Given the description of an element on the screen output the (x, y) to click on. 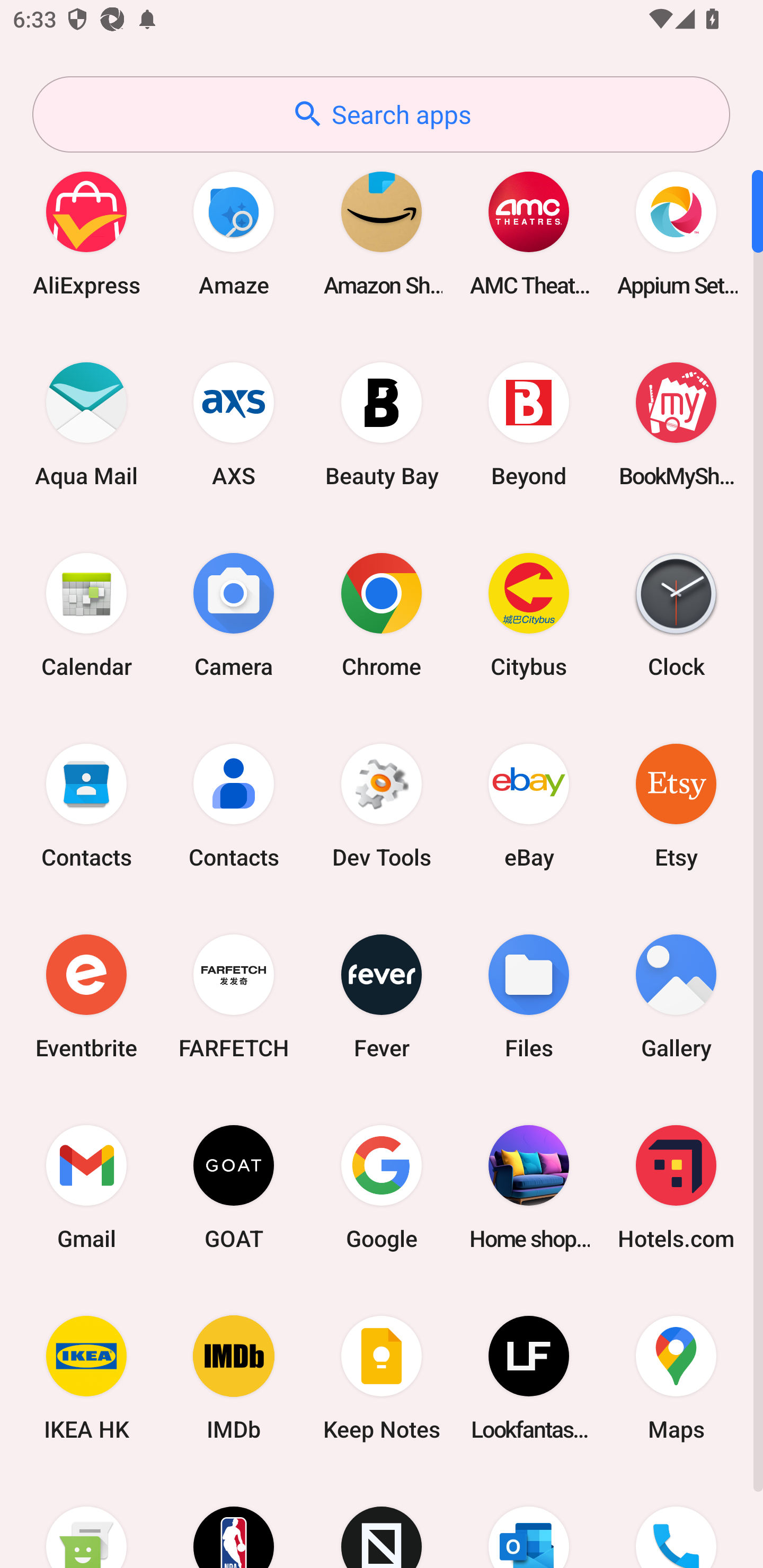
  Search apps (381, 114)
AliExpress (86, 233)
Amaze (233, 233)
Amazon Shopping (381, 233)
AMC Theatres (528, 233)
Appium Settings (676, 233)
Aqua Mail (86, 424)
AXS (233, 424)
Beauty Bay (381, 424)
Beyond (528, 424)
BookMyShow (676, 424)
Calendar (86, 614)
Camera (233, 614)
Chrome (381, 614)
Citybus (528, 614)
Clock (676, 614)
Contacts (86, 805)
Contacts (233, 805)
Dev Tools (381, 805)
eBay (528, 805)
Etsy (676, 805)
Eventbrite (86, 996)
FARFETCH (233, 996)
Fever (381, 996)
Files (528, 996)
Gallery (676, 996)
Gmail (86, 1186)
GOAT (233, 1186)
Google (381, 1186)
Home shopping (528, 1186)
Hotels.com (676, 1186)
IKEA HK (86, 1377)
IMDb (233, 1377)
Keep Notes (381, 1377)
Lookfantastic (528, 1377)
Maps (676, 1377)
